Given the description of an element on the screen output the (x, y) to click on. 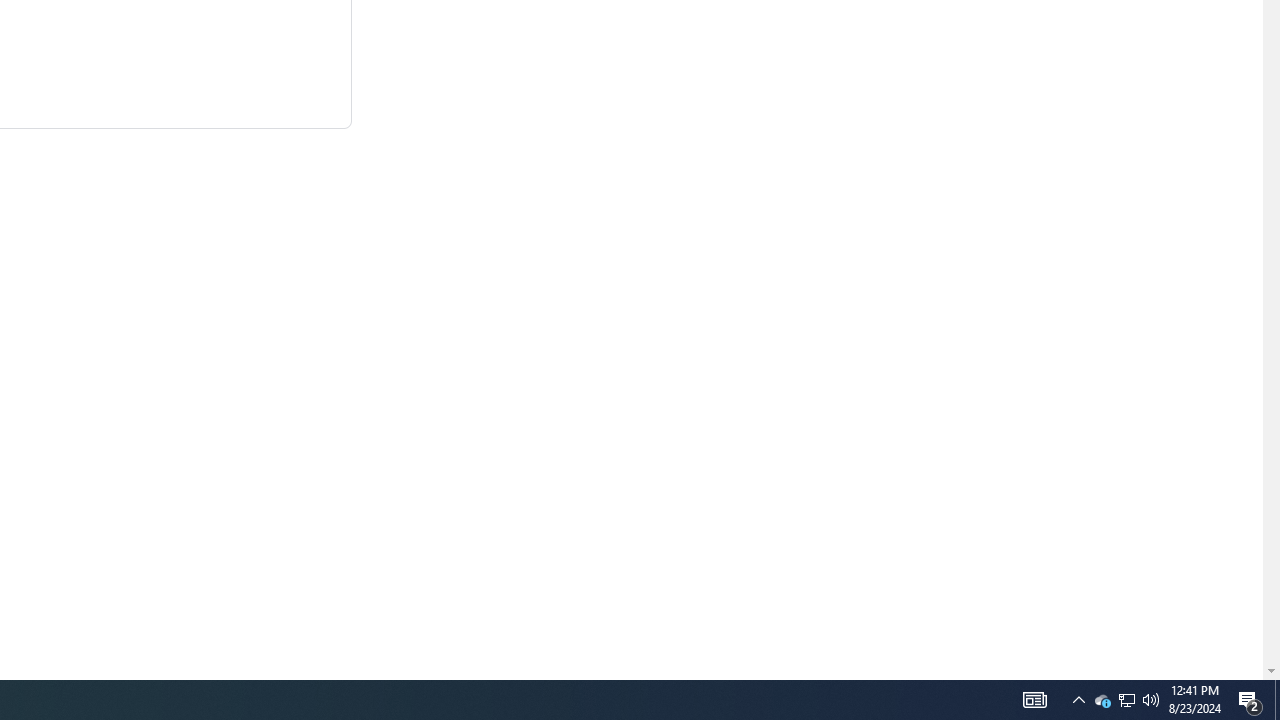
User Promoted Notification Area (1126, 699)
Show desktop (1126, 699)
Action Center, 2 new notifications (1277, 699)
Notification Chevron (1250, 699)
AutomationID: 4105 (1078, 699)
Q2790: 100% (1034, 699)
